Given the description of an element on the screen output the (x, y) to click on. 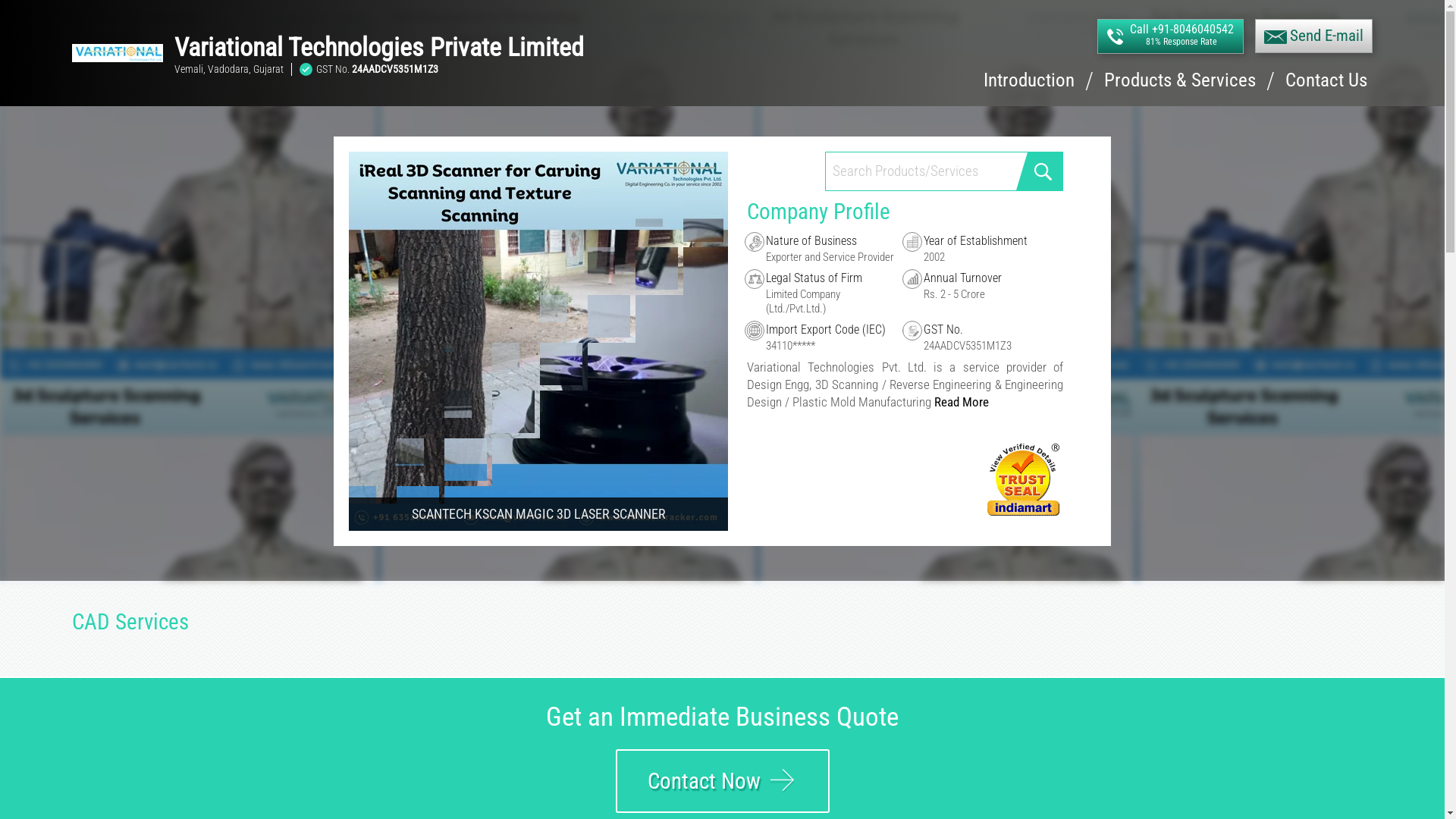
Introduction Element type: text (1028, 88)
Variational Technologies Private Limited Element type: text (512, 46)
Read More Element type: text (961, 401)
Send E-mail Element type: text (1313, 35)
Contact Now Element type: text (722, 780)
Products & Services Element type: text (1179, 88)
CAD Services Element type: text (130, 621)
Call +91-8046040542
81% Response Rate Element type: text (1170, 35)
Contact Us Element type: text (1326, 88)
